Given the description of an element on the screen output the (x, y) to click on. 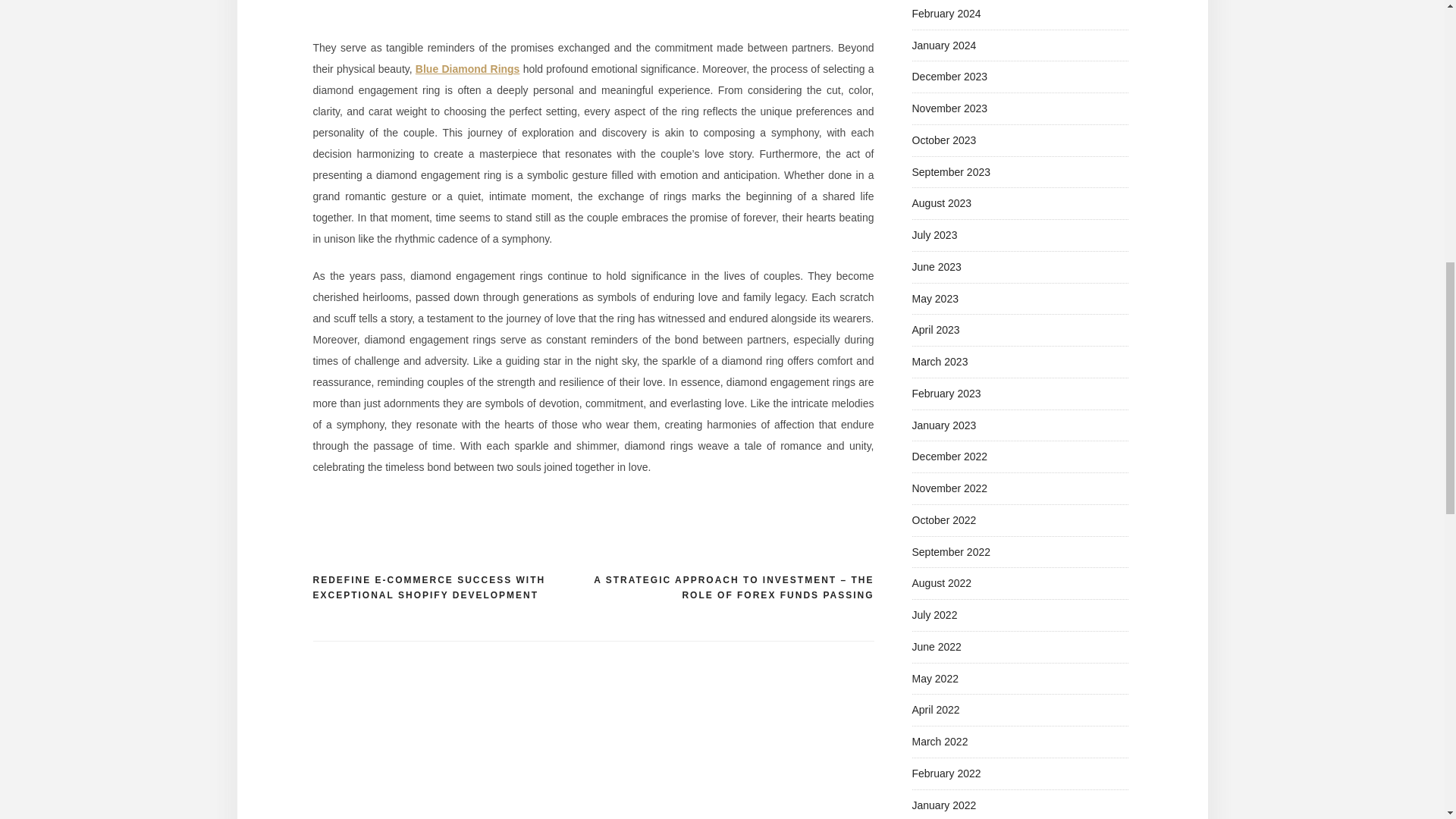
December 2023 (949, 76)
January 2023 (943, 425)
October 2023 (943, 140)
June 2023 (935, 266)
April 2023 (935, 329)
January 2024 (943, 45)
July 2023 (933, 234)
August 2023 (941, 203)
Blue Diamond Rings (466, 69)
February 2024 (945, 13)
